Given the description of an element on the screen output the (x, y) to click on. 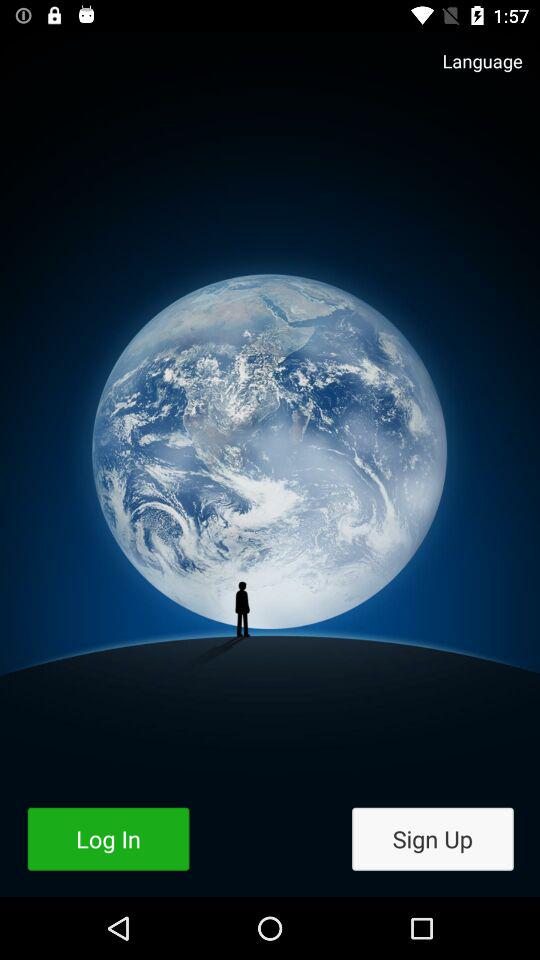
jump until the language icon (472, 70)
